Given the description of an element on the screen output the (x, y) to click on. 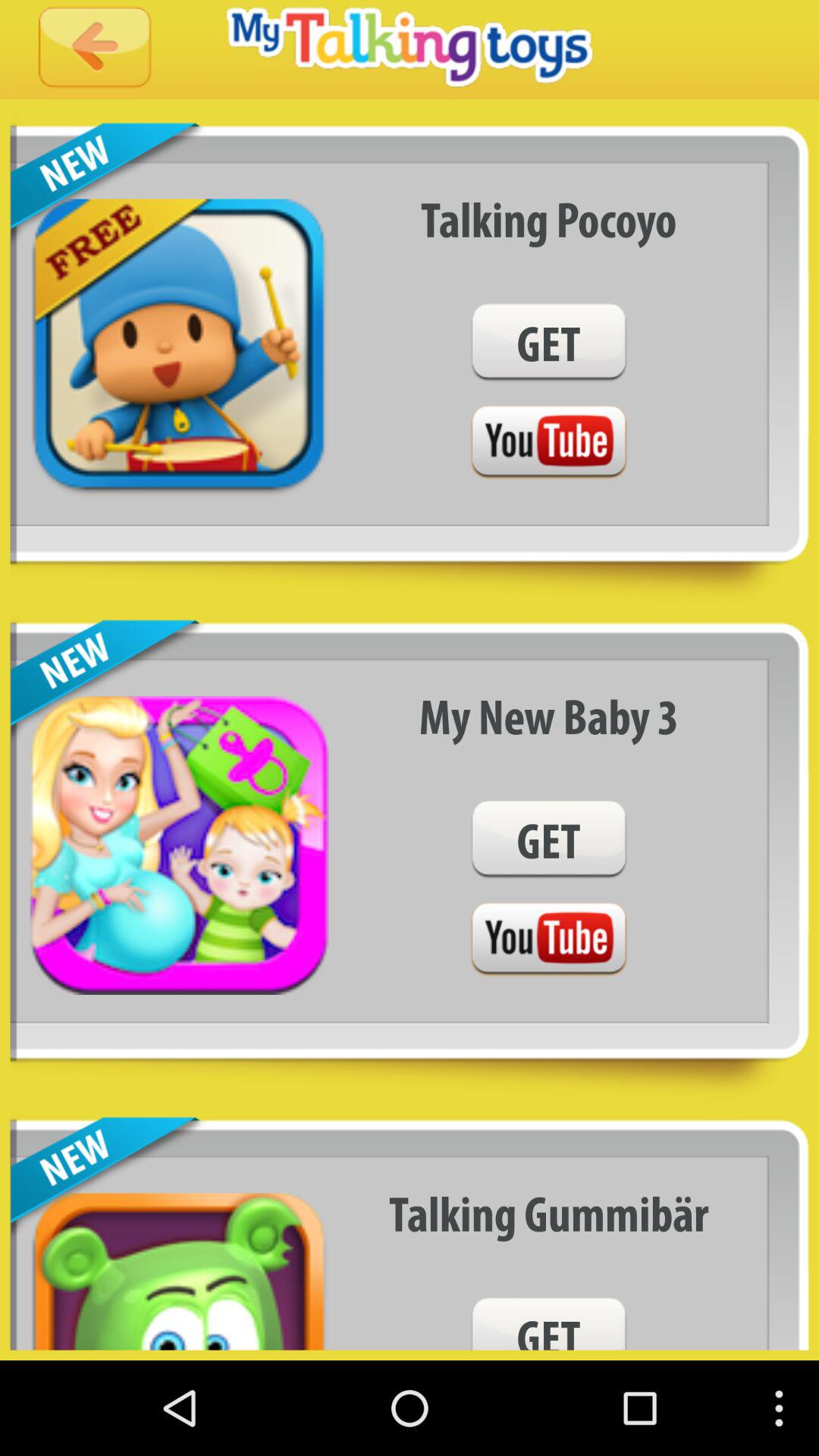
tap to go you tube (548, 939)
